Given the description of an element on the screen output the (x, y) to click on. 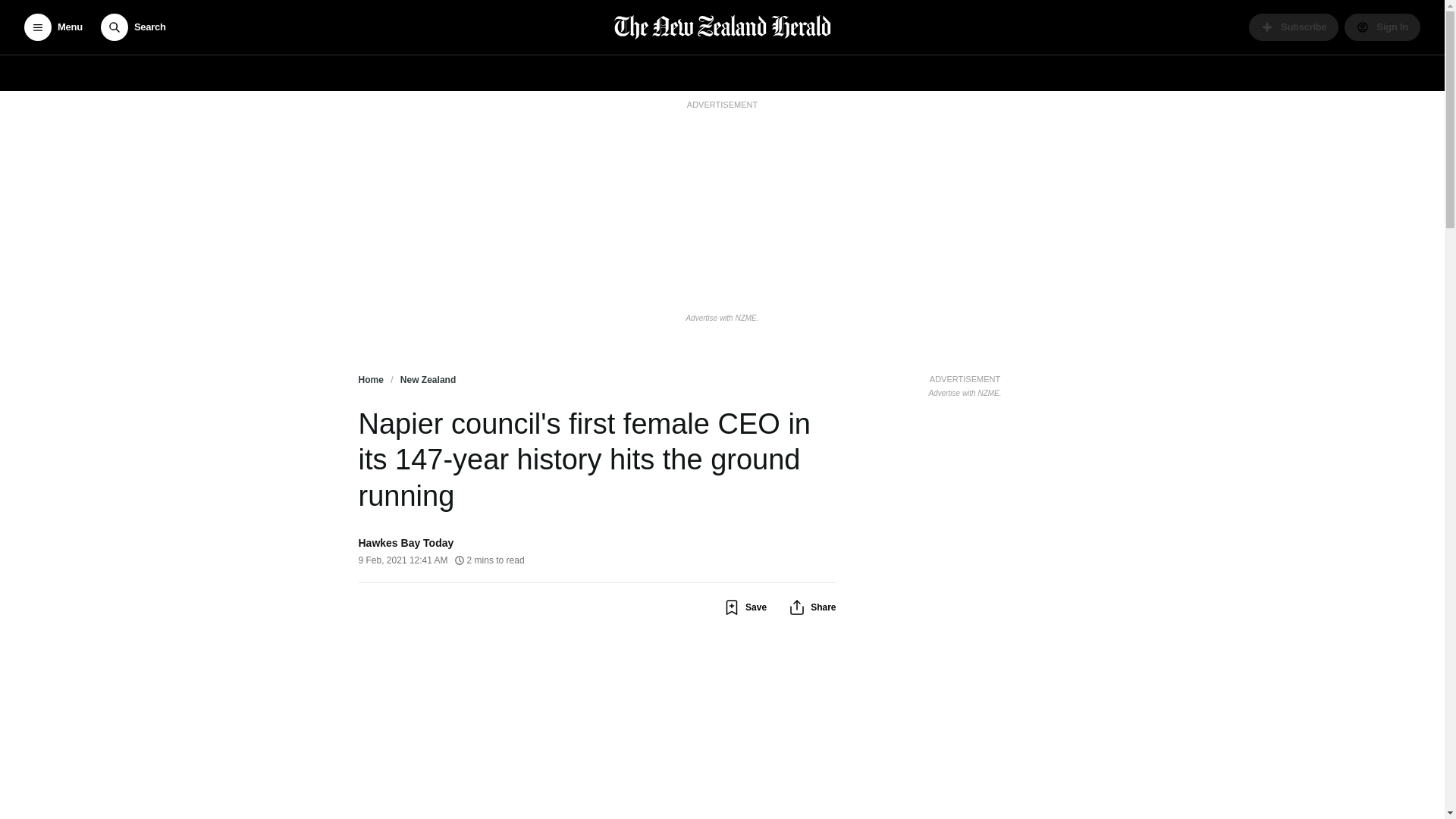
Sign In (1382, 26)
Manage your account (1382, 26)
Menu (53, 26)
Search (132, 26)
Subscribe (1294, 26)
